Given the description of an element on the screen output the (x, y) to click on. 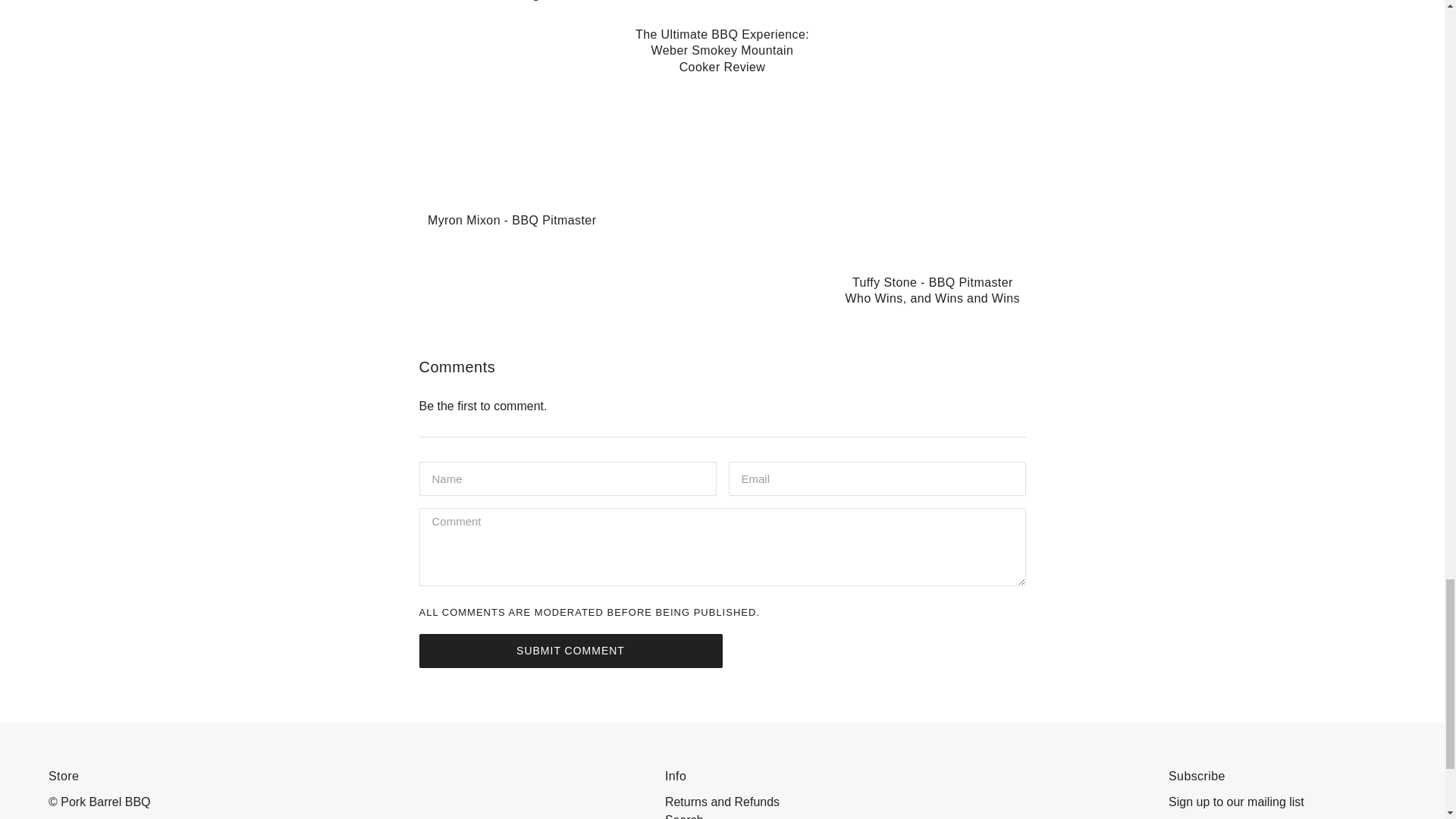
Search (684, 816)
Returns and Refunds (721, 801)
Returns and Refunds (721, 801)
SUBMIT COMMENT (570, 650)
Search (684, 816)
